Given the description of an element on the screen output the (x, y) to click on. 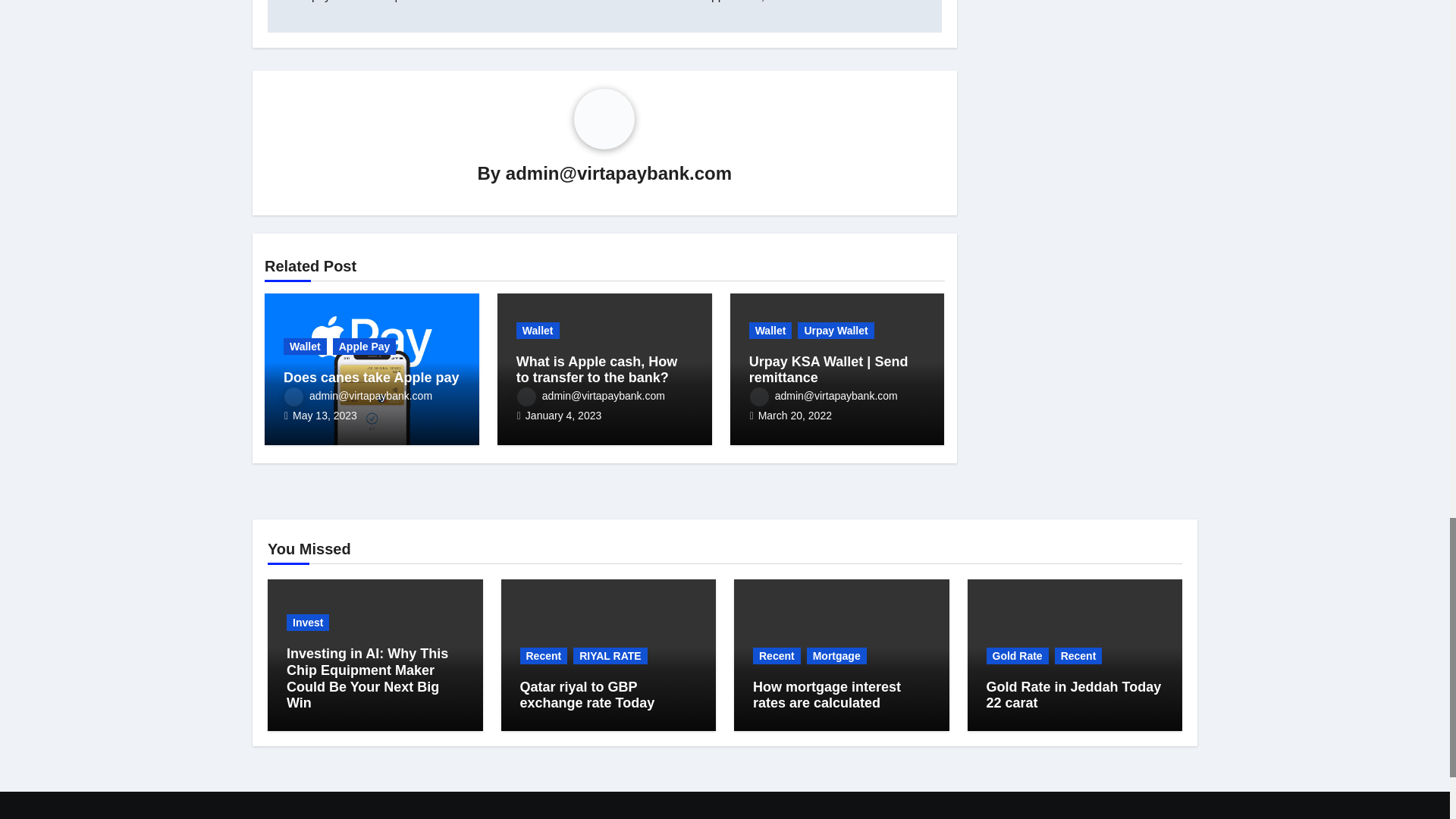
Permalink to: Gold Rate in Jeddah Today 22 carat (1072, 695)
Permalink to: Qatar riyal to GBP exchange rate Today (587, 695)
Permalink to: Does canes take Apple pay (370, 377)
Permalink to: How mortgage interest rates are calculated (826, 695)
